Given the description of an element on the screen output the (x, y) to click on. 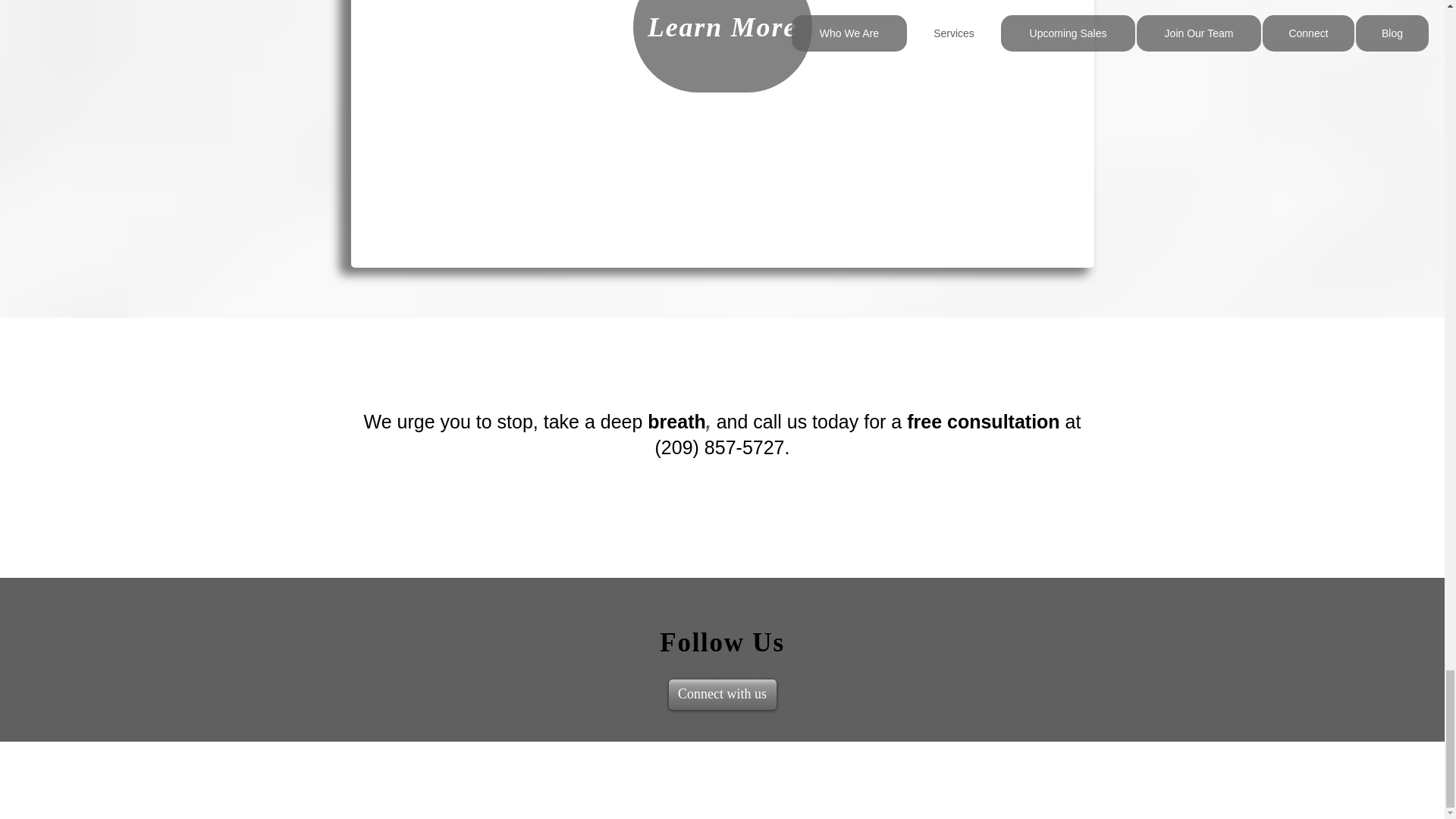
Learn More (721, 47)
Connect with us (722, 694)
